Given the description of an element on the screen output the (x, y) to click on. 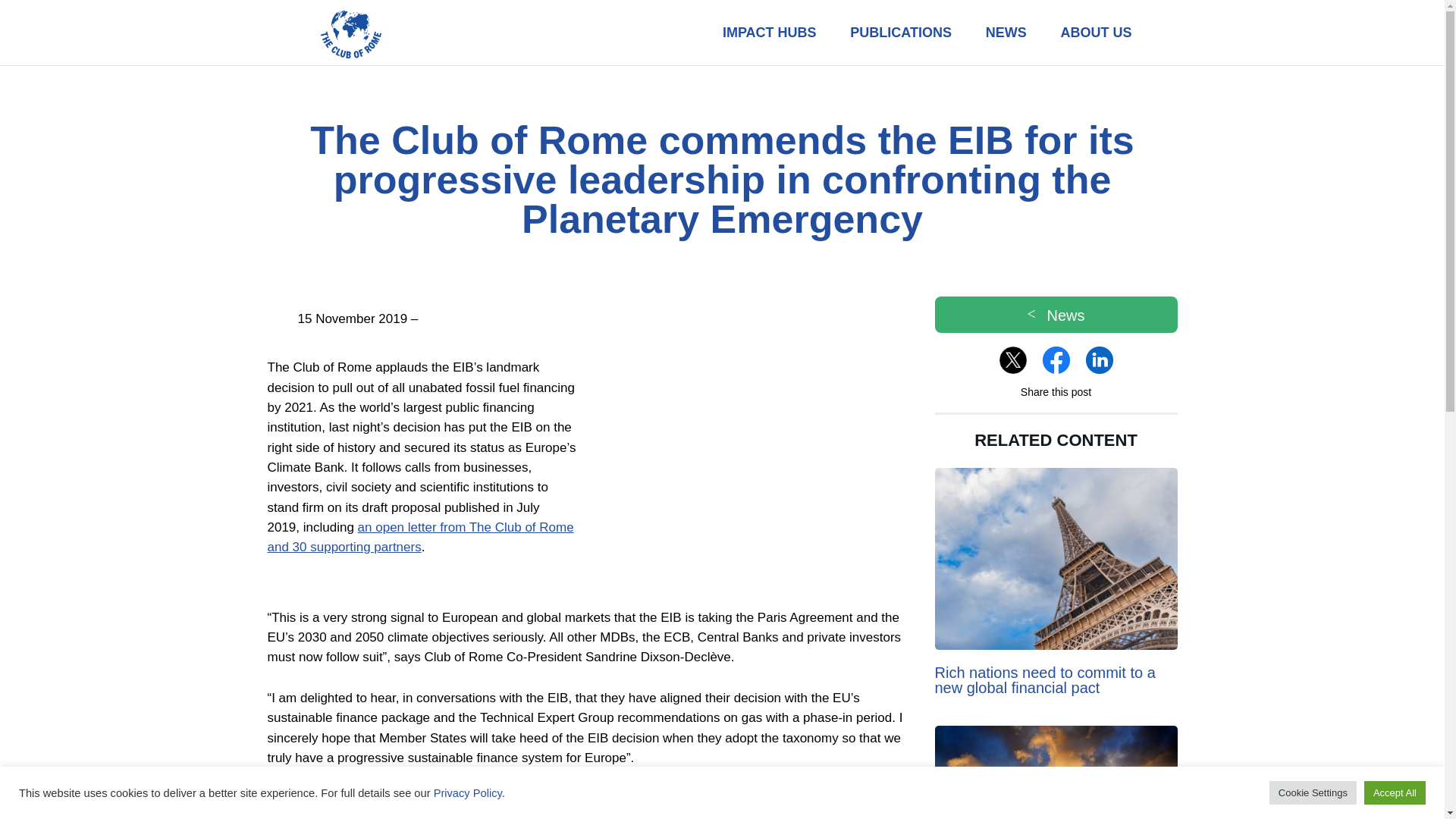
PUBLICATIONS (900, 32)
IMPACT HUBS (769, 32)
ABOUT US (1096, 32)
Facebook (1055, 359)
Linkedin (1099, 359)
Twitter (1012, 359)
NEWS (1006, 32)
